Given the description of an element on the screen output the (x, y) to click on. 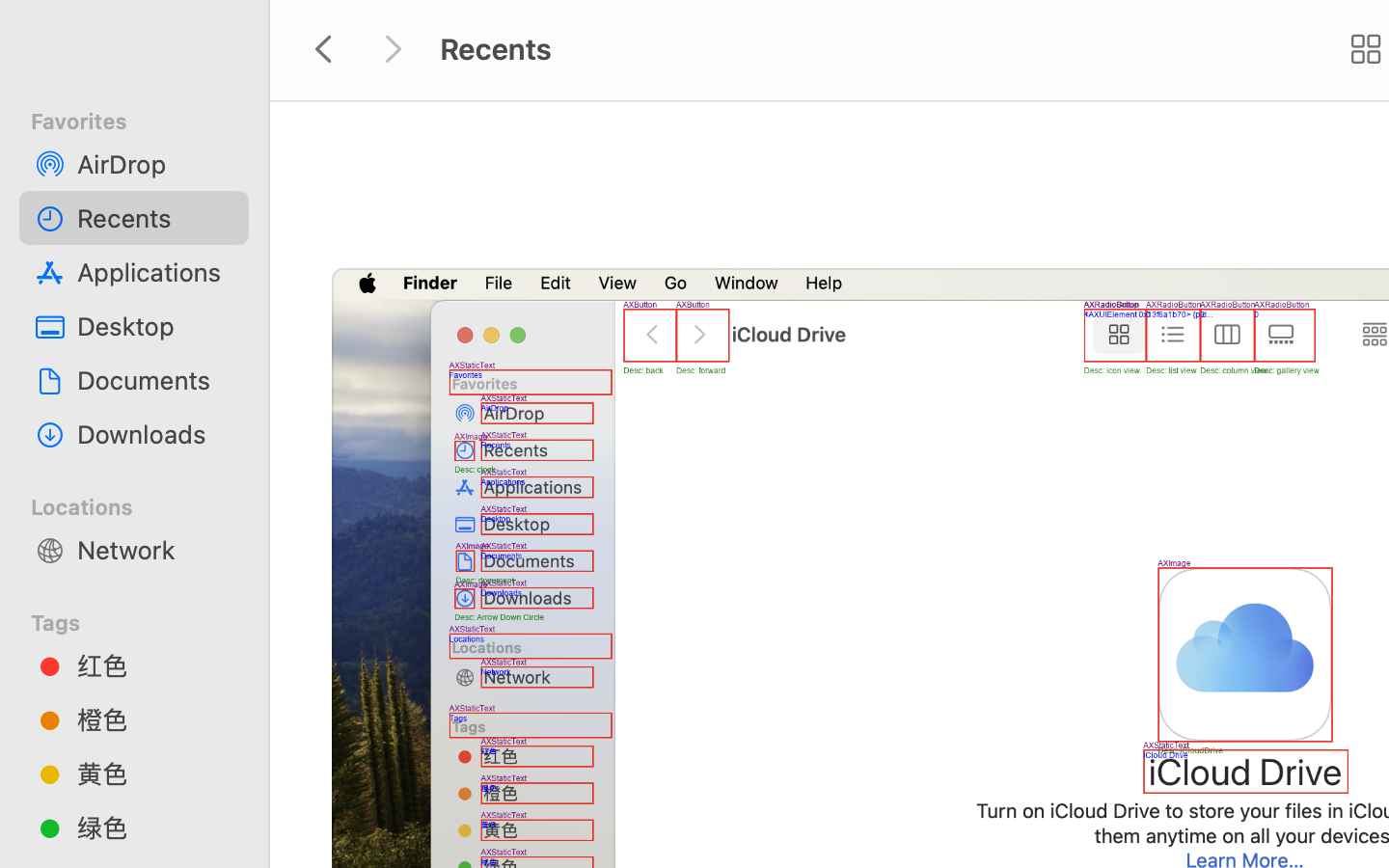
Network Element type: AXStaticText (155, 549)
绿色 Element type: AXStaticText (155, 827)
Locations Element type: AXStaticText (145, 504)
AirDrop Element type: AXStaticText (155, 163)
